Given the description of an element on the screen output the (x, y) to click on. 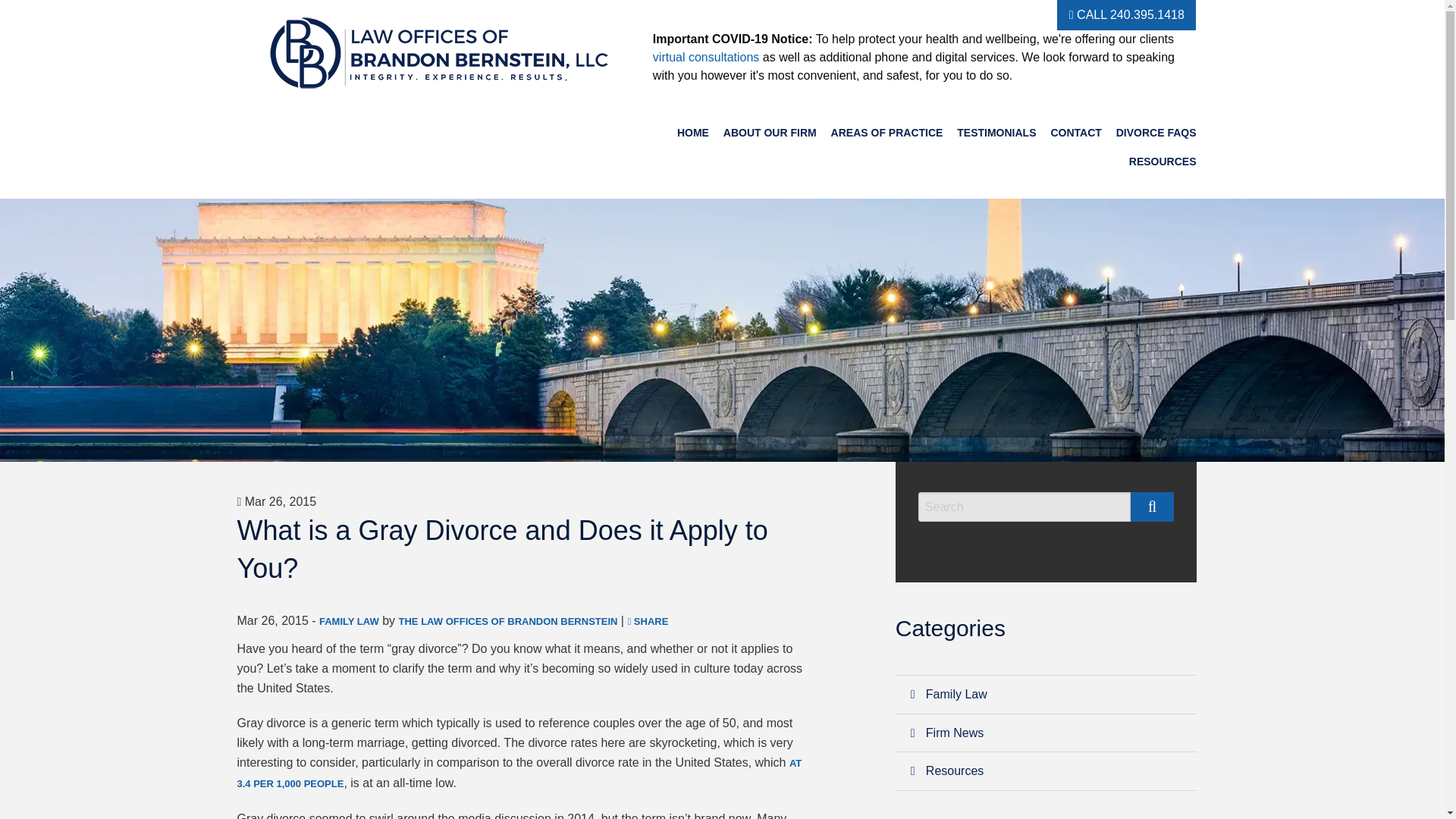
CALL 240.395.1418 (1126, 15)
AREAS OF PRACTICE (887, 132)
Posts by The Law Offices of Brandon Bernstein (507, 621)
ABOUT OUR FIRM (769, 132)
virtual consultations (706, 56)
HOME (693, 132)
